Given the description of an element on the screen output the (x, y) to click on. 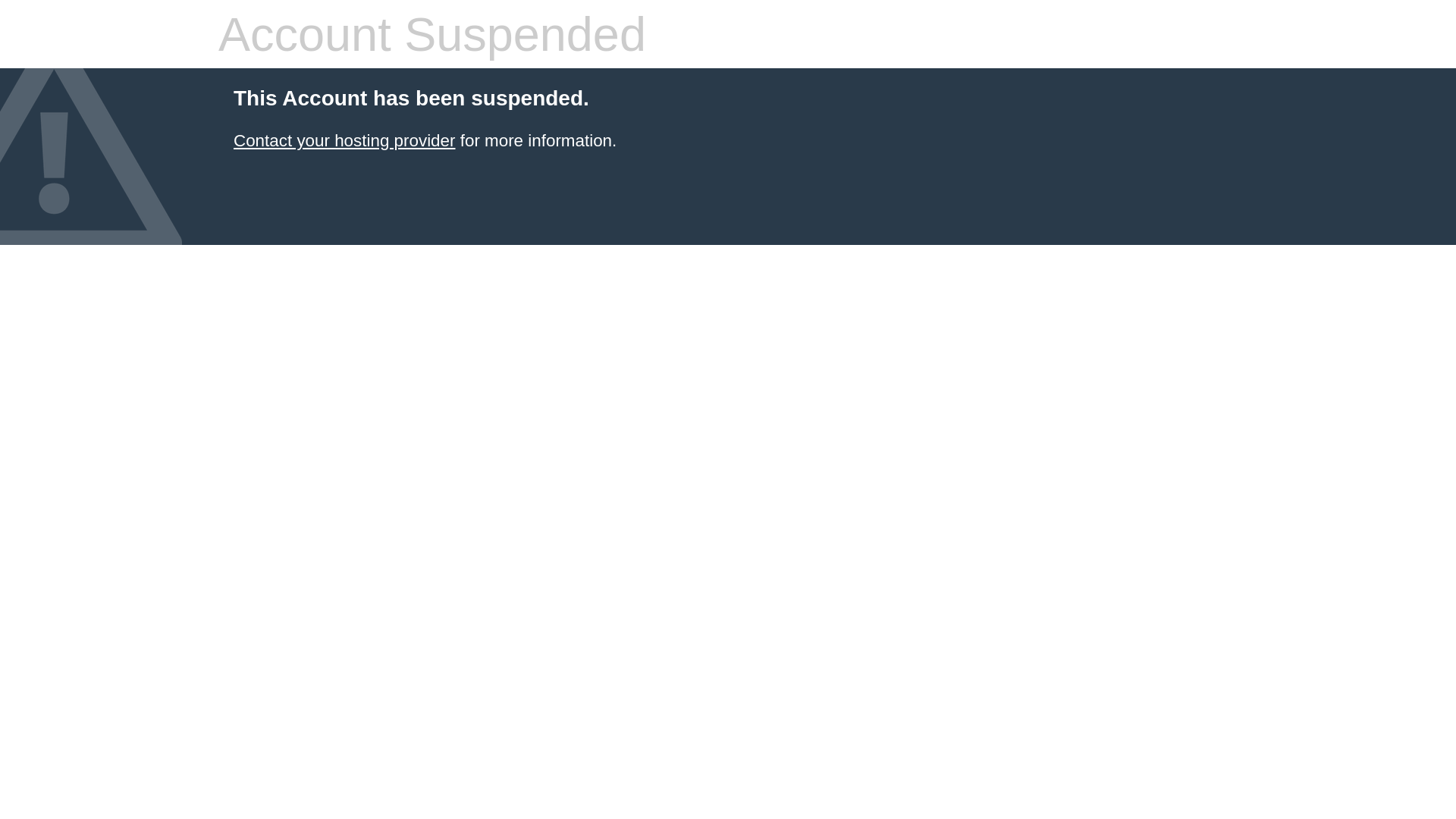
Contact your hosting provider Element type: text (344, 140)
